Given the description of an element on the screen output the (x, y) to click on. 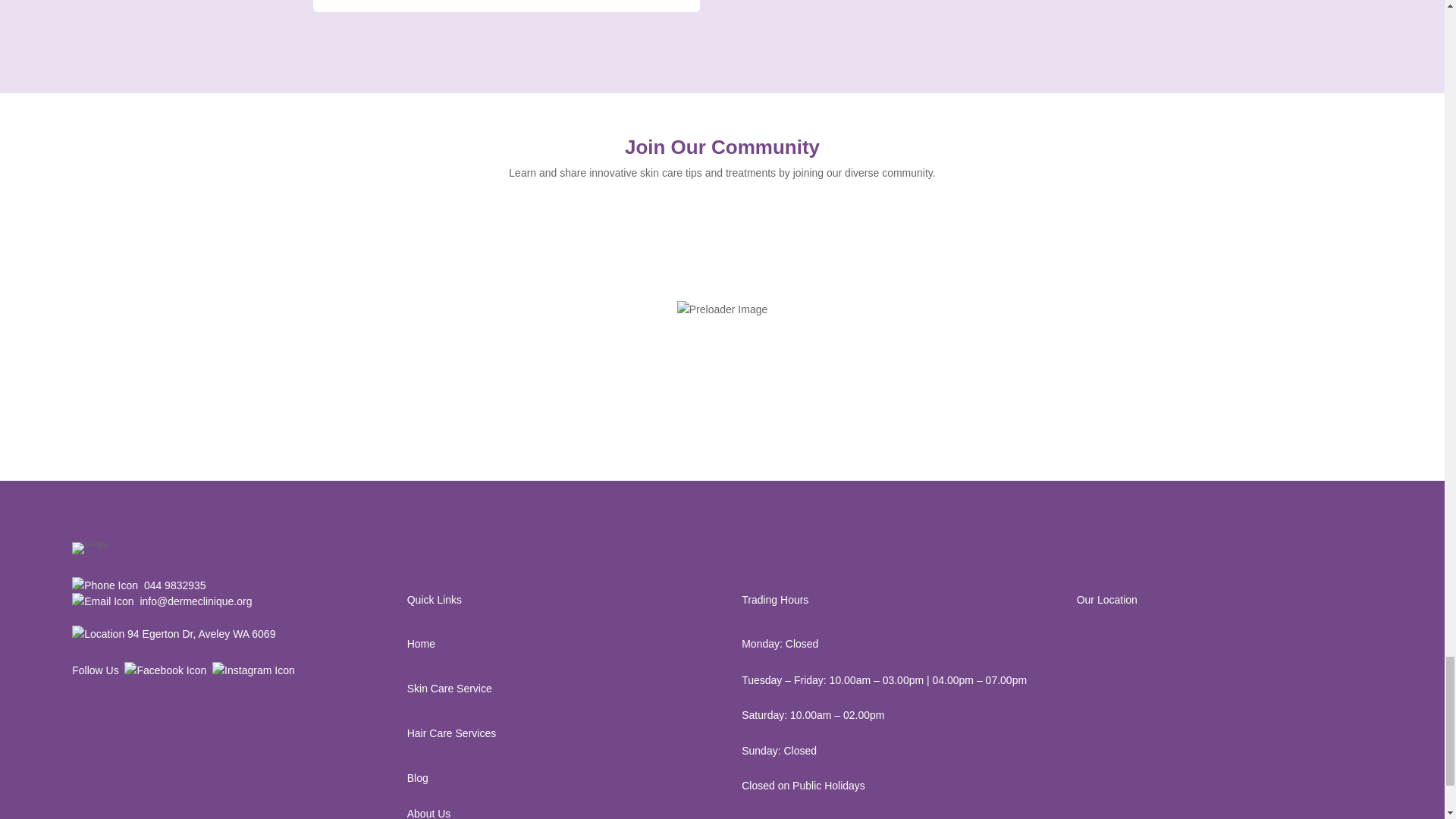
Logo (89, 548)
